Given the description of an element on the screen output the (x, y) to click on. 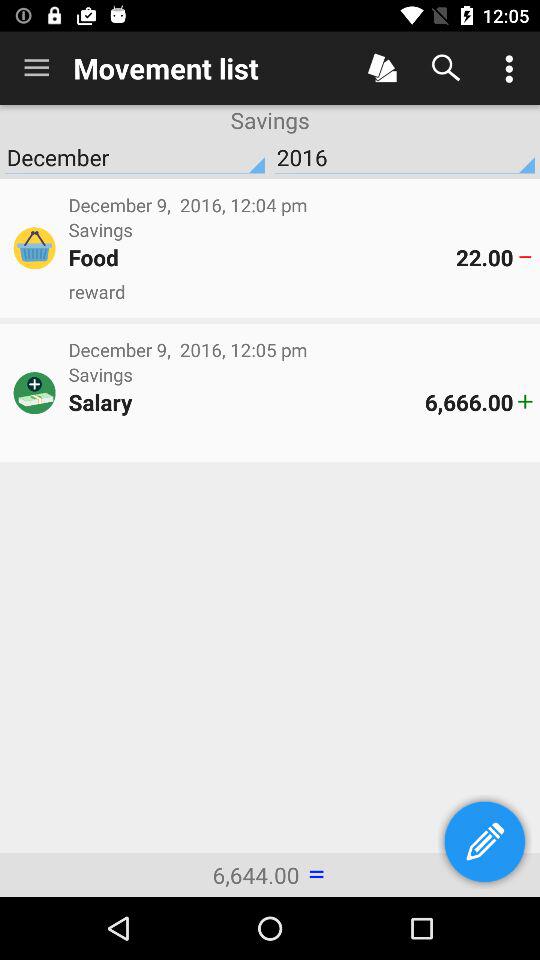
swipe until the salary (246, 401)
